Given the description of an element on the screen output the (x, y) to click on. 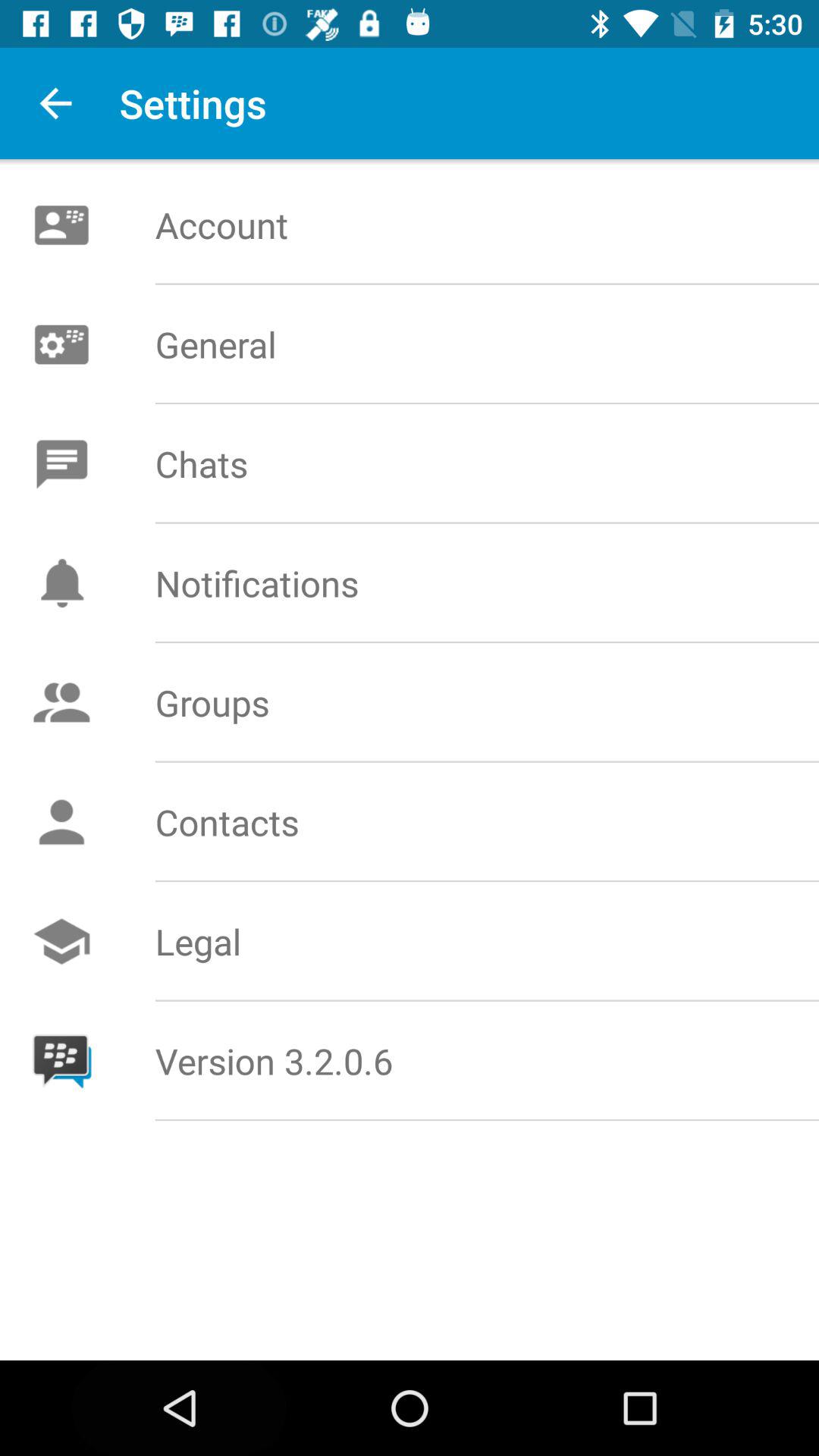
launch item next to settings icon (55, 103)
